Given the description of an element on the screen output the (x, y) to click on. 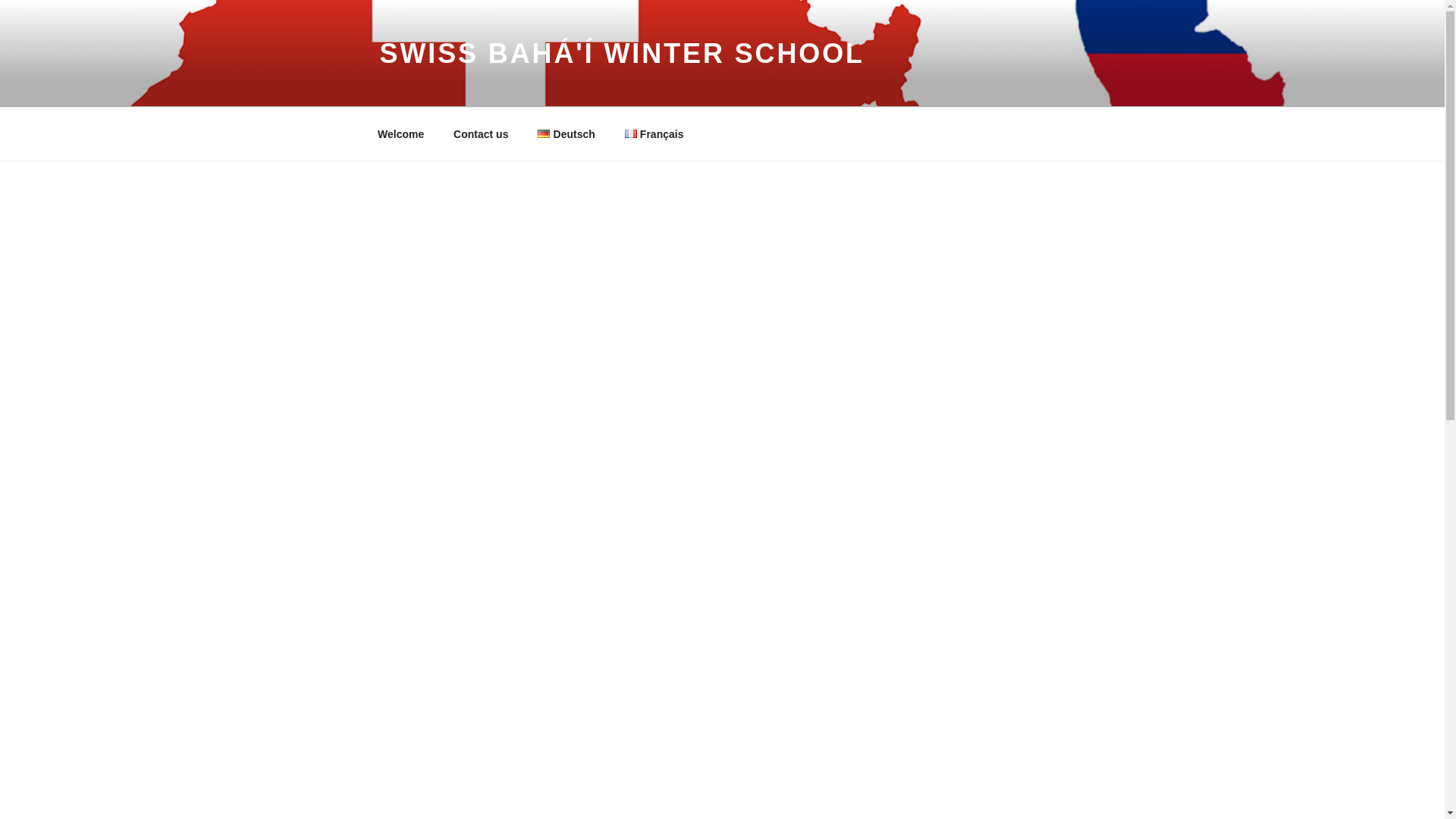
Deutsch Element type: text (566, 133)
Welcome Element type: text (400, 133)
Contact us Element type: text (480, 133)
